Given the description of an element on the screen output the (x, y) to click on. 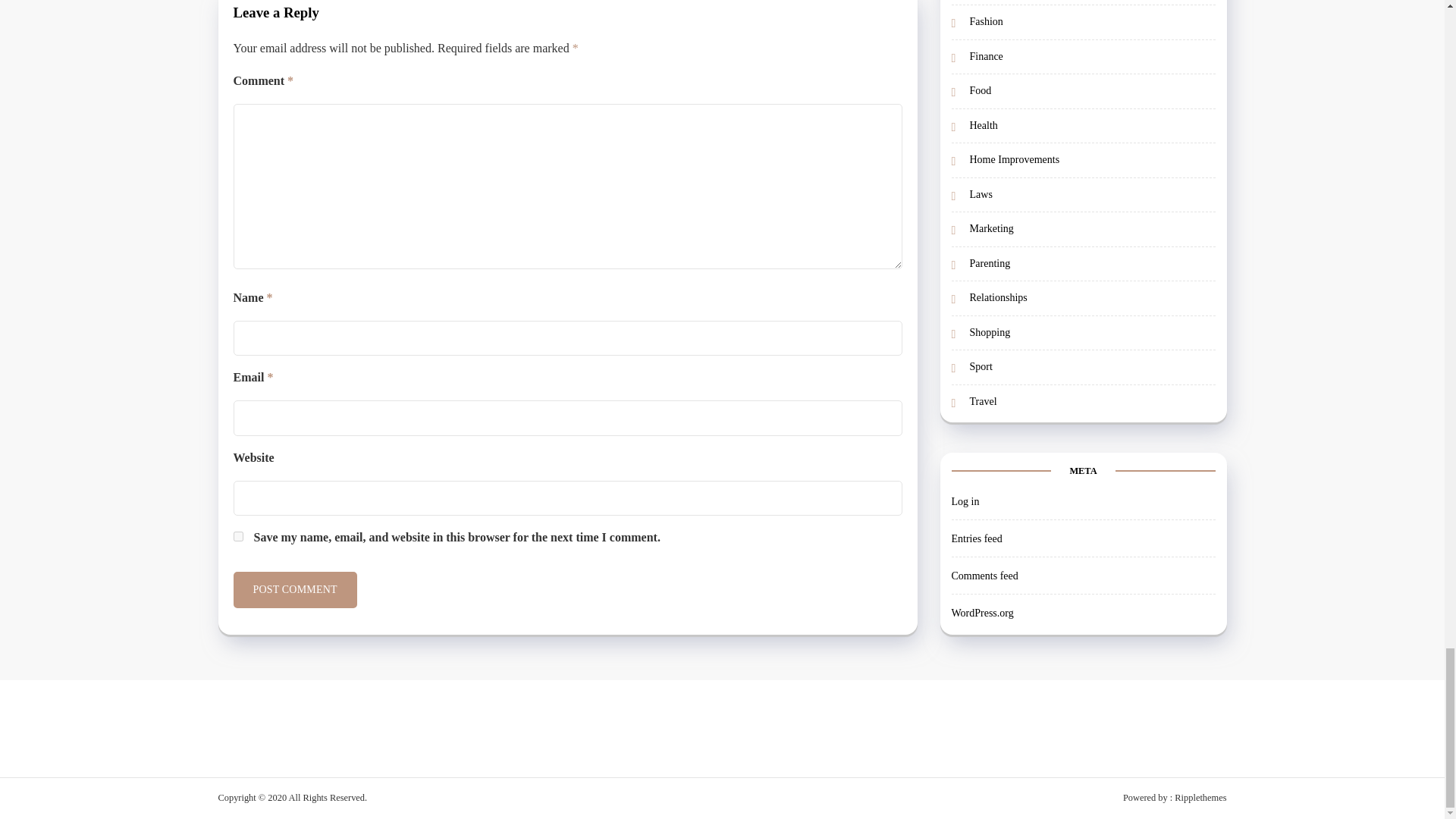
yes (237, 536)
Post Comment (294, 589)
